Given the description of an element on the screen output the (x, y) to click on. 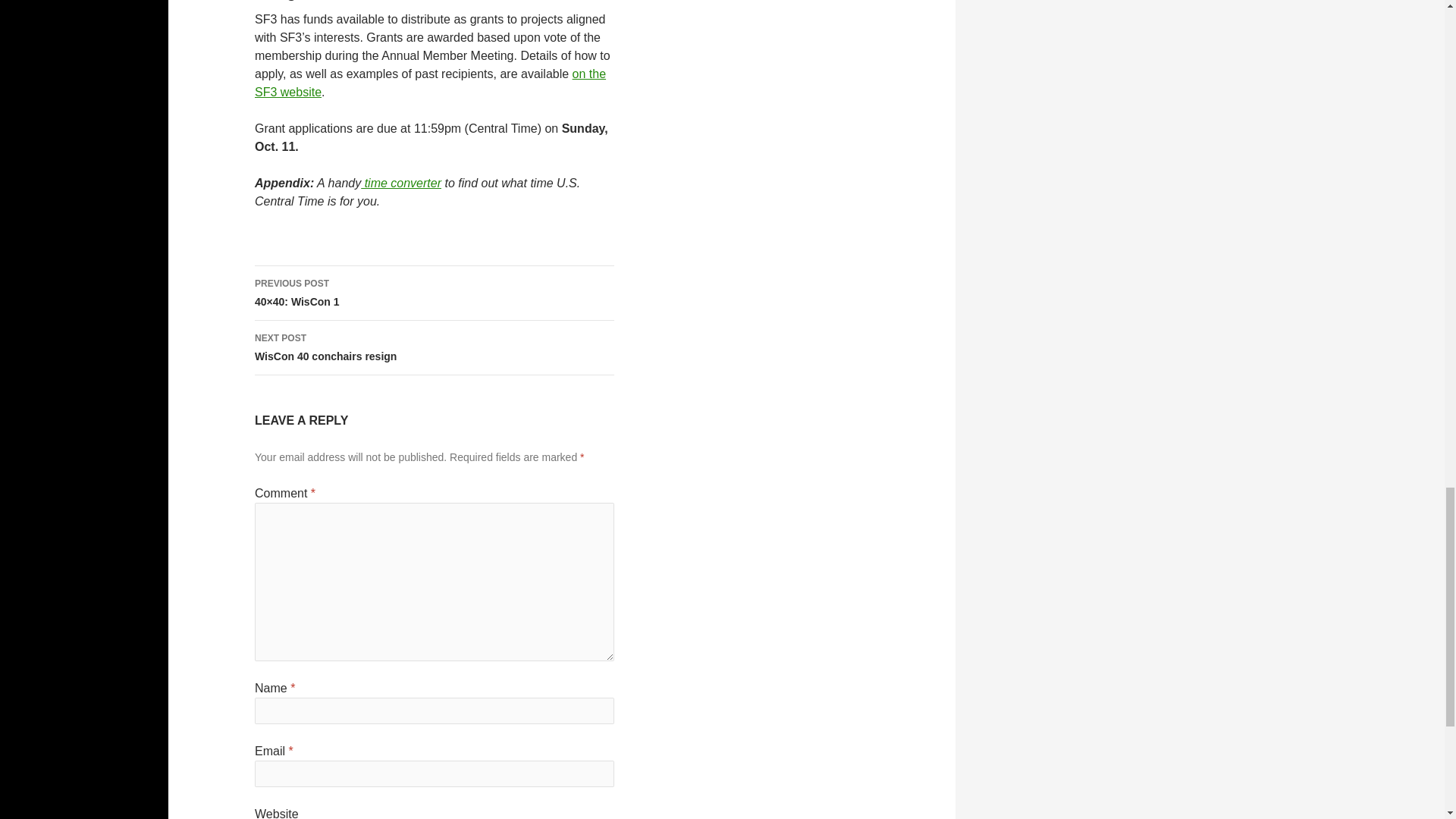
convert time to Madison, Wisconsin (401, 182)
